Given the description of an element on the screen output the (x, y) to click on. 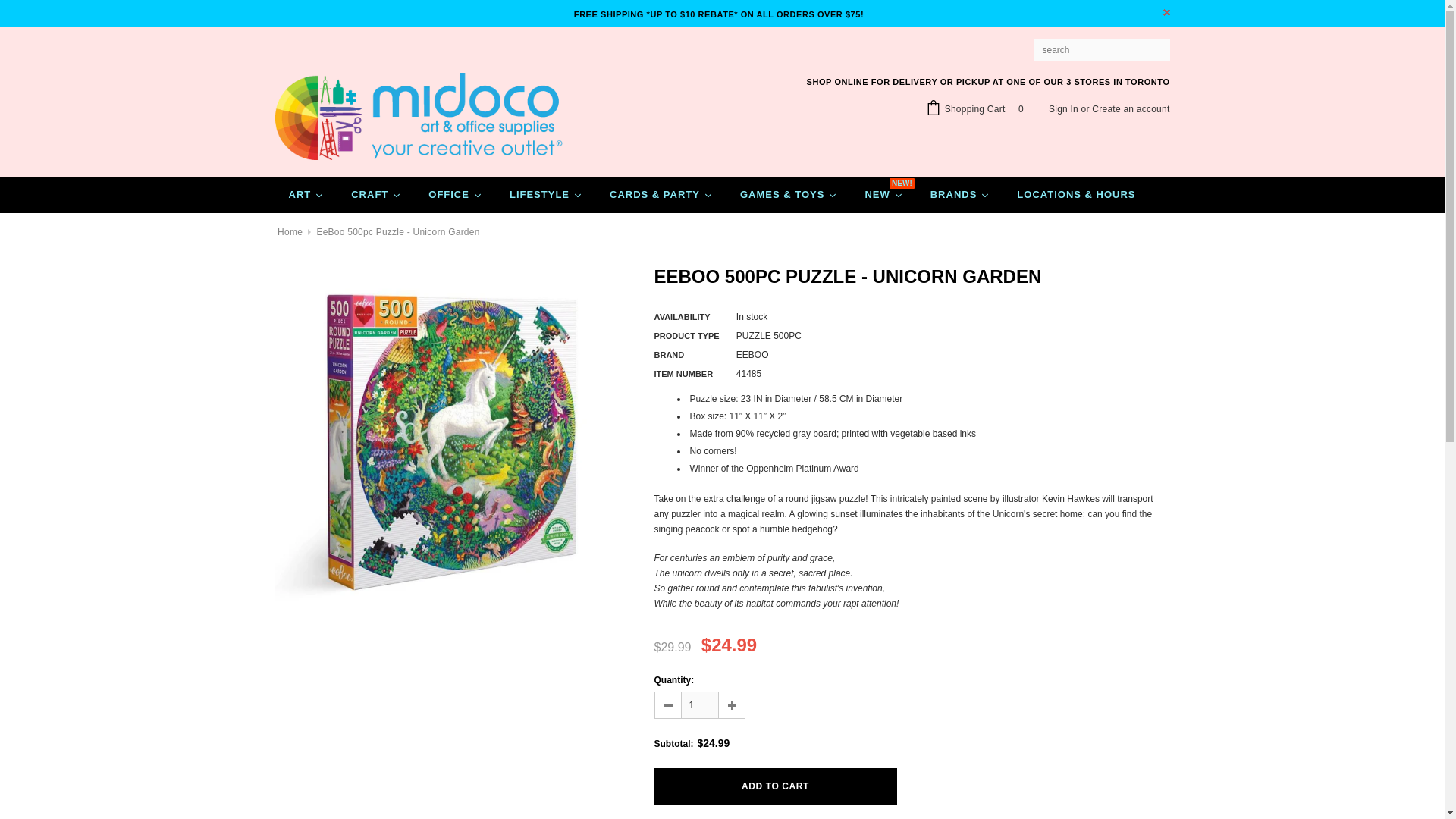
OFFICE (455, 194)
CRAFT (375, 194)
LIFESTYLE (545, 194)
ART (306, 194)
ART (306, 194)
Sign In (1063, 109)
NEW (882, 194)
BRANDS (960, 194)
1 (700, 705)
LIFESTYLE (545, 194)
OFFICE (455, 194)
Create an account (1130, 109)
CRAFT (375, 194)
Shopping Cart 0 (977, 109)
Add to Cart (774, 786)
